Given the description of an element on the screen output the (x, y) to click on. 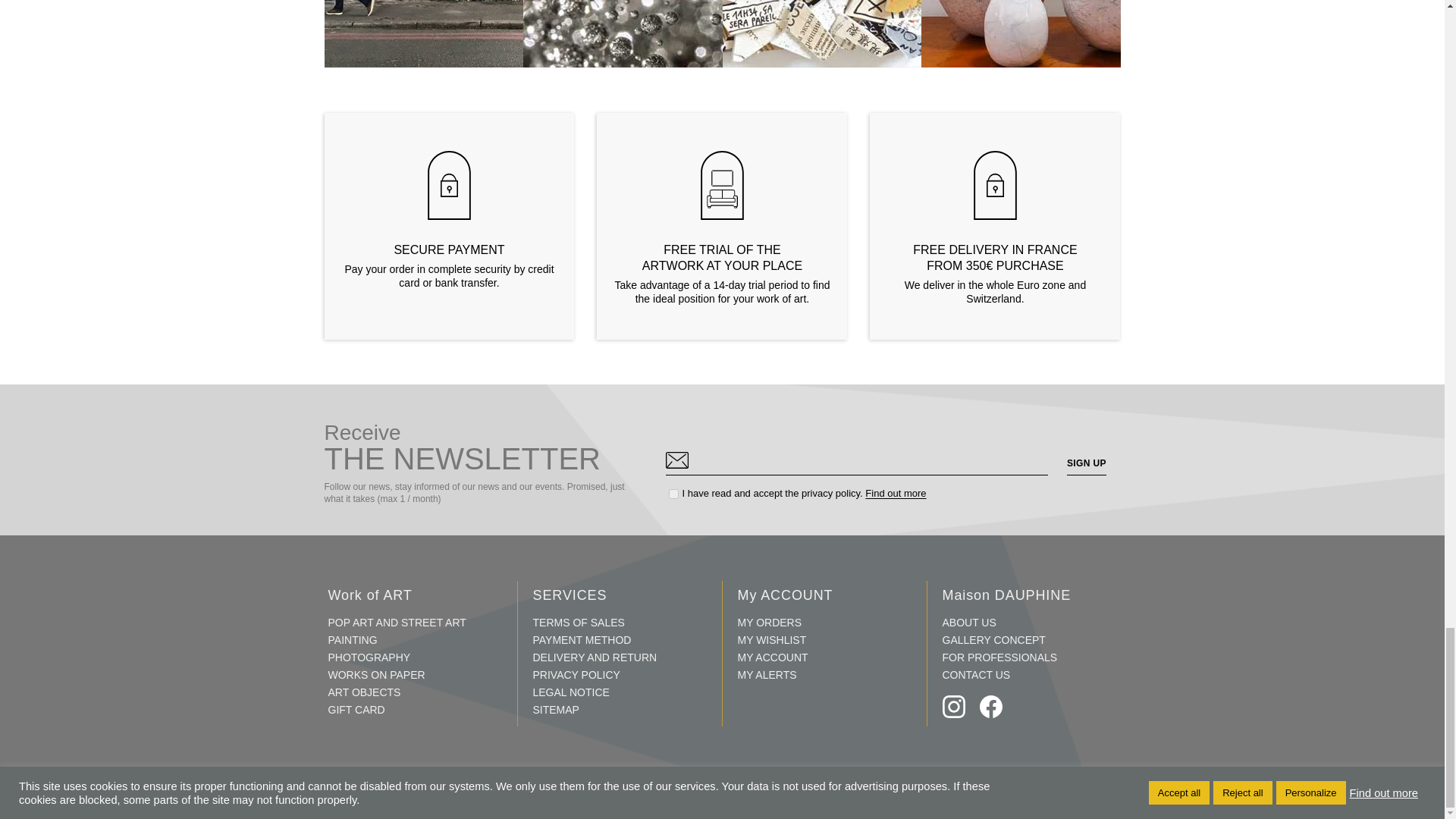
Sign up (1086, 463)
1 (673, 493)
